Given the description of an element on the screen output the (x, y) to click on. 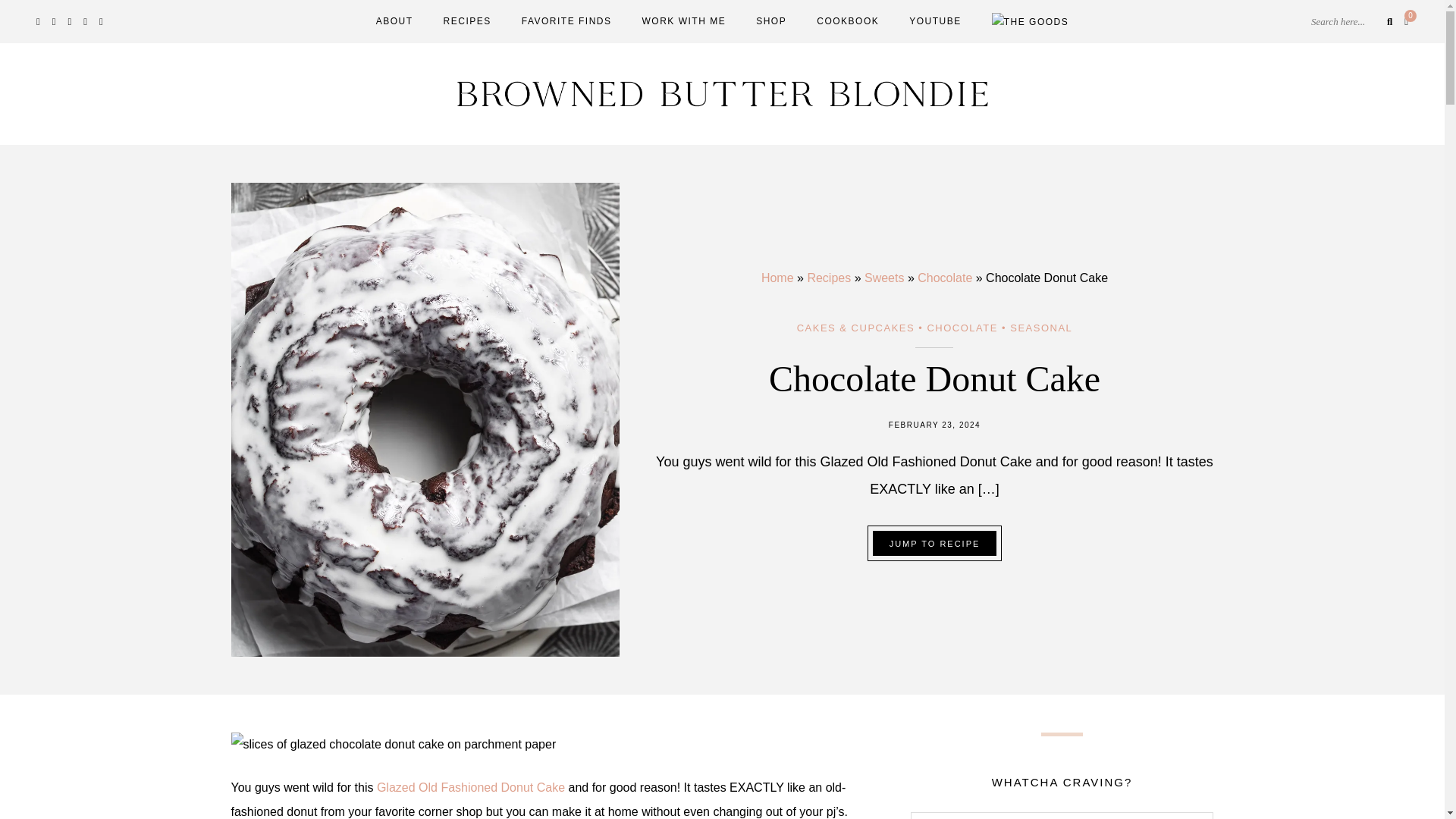
Home (777, 277)
FAVORITE FINDS (566, 20)
ABOUT (394, 20)
RECIPES (467, 20)
JUMP TO RECIPE (934, 543)
Glazed Old Fashioned Donut Cake (473, 787)
CHOCOLATE (961, 326)
JUMP TO RECIPE (934, 543)
SHOP (770, 20)
COOKBOOK (847, 20)
